Given the description of an element on the screen output the (x, y) to click on. 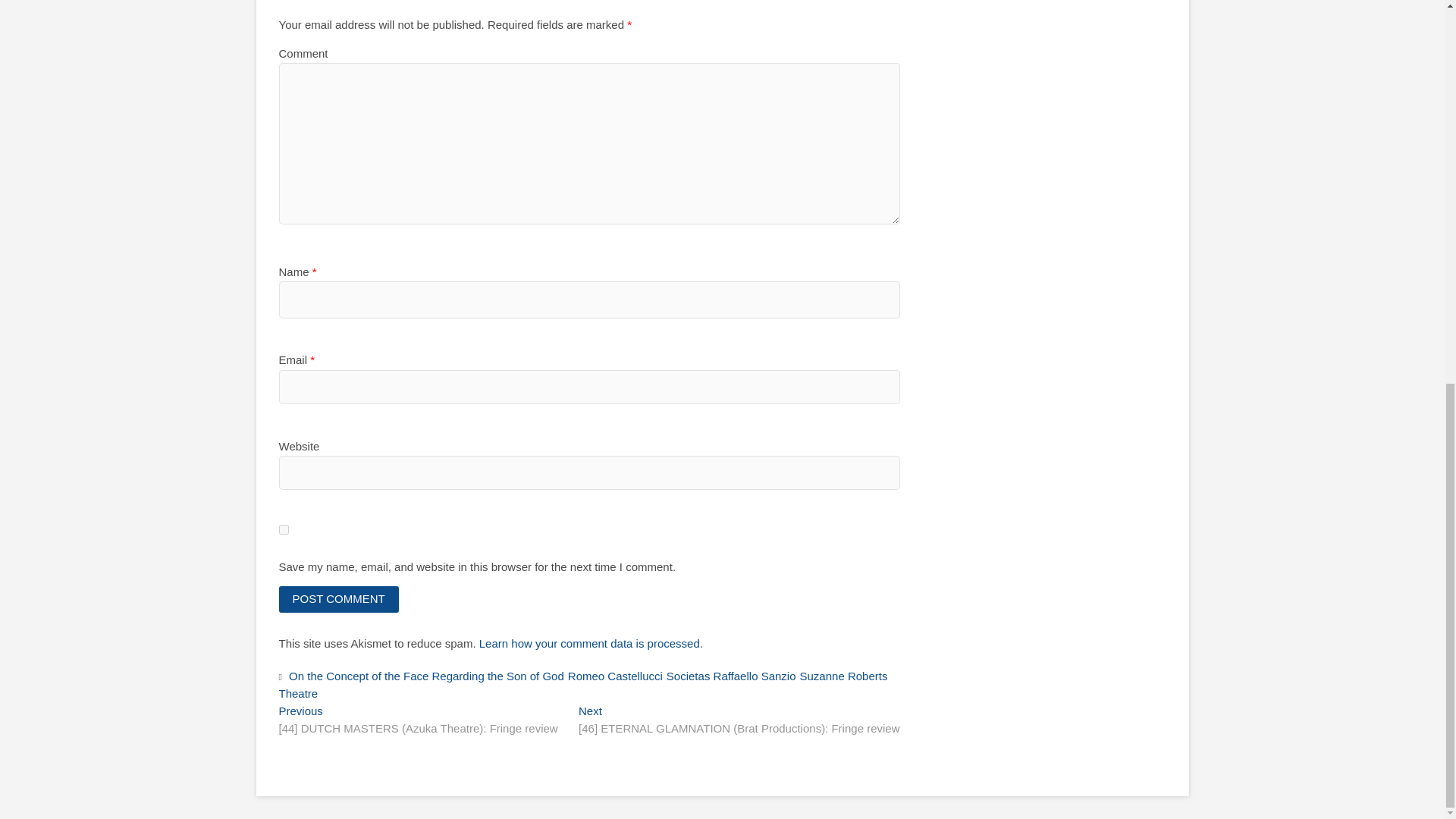
yes (283, 529)
Romeo Castellucci (616, 677)
Societas Raffaello Sanzio (732, 677)
Post Comment (338, 599)
Post Comment (338, 599)
On the Concept of the Face Regarding the Son of God (427, 677)
Learn how your comment data is processed (589, 643)
Suzanne Roberts Theatre (583, 686)
